Given the description of an element on the screen output the (x, y) to click on. 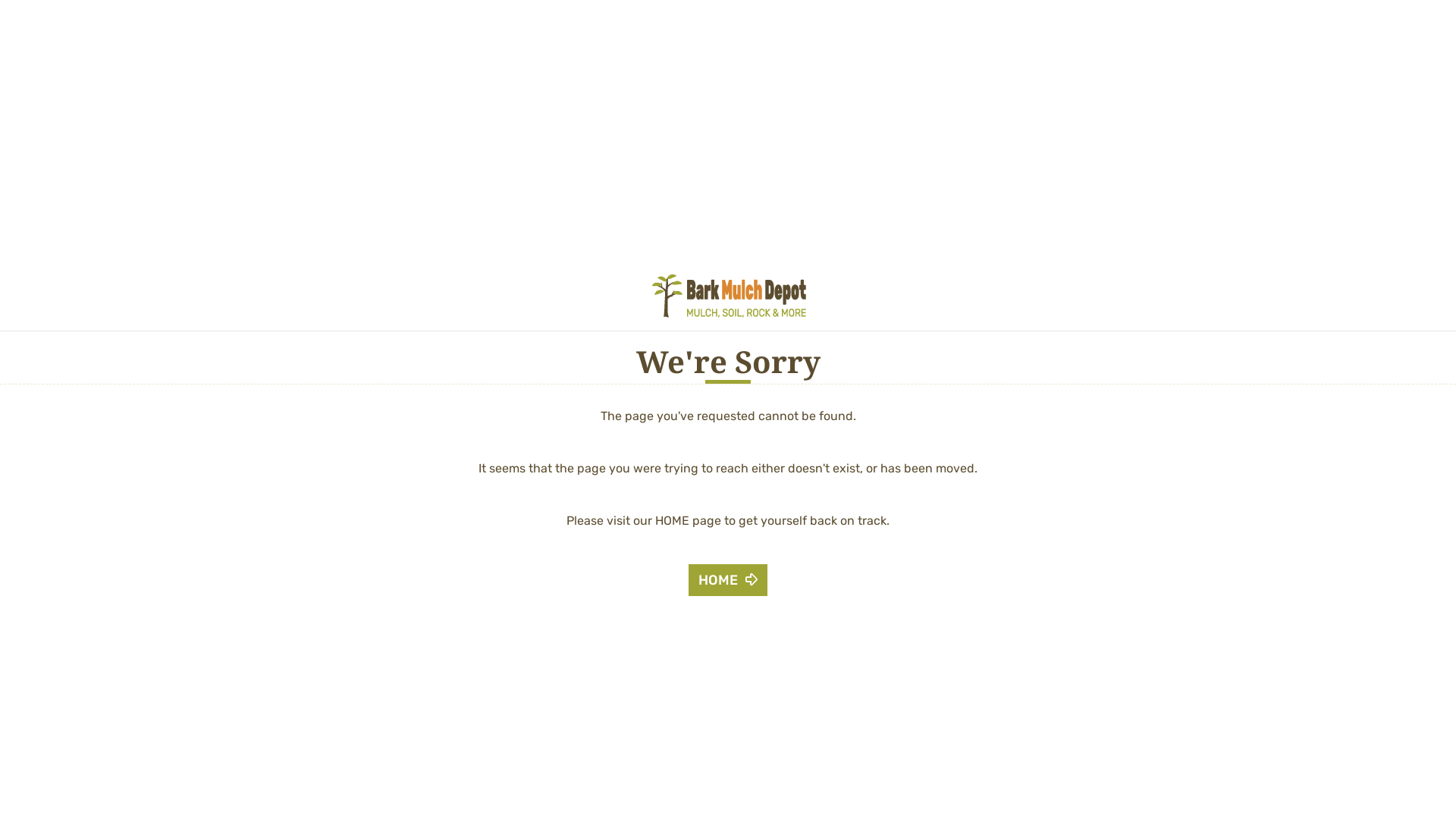
HOME Element type: text (727, 580)
